Given the description of an element on the screen output the (x, y) to click on. 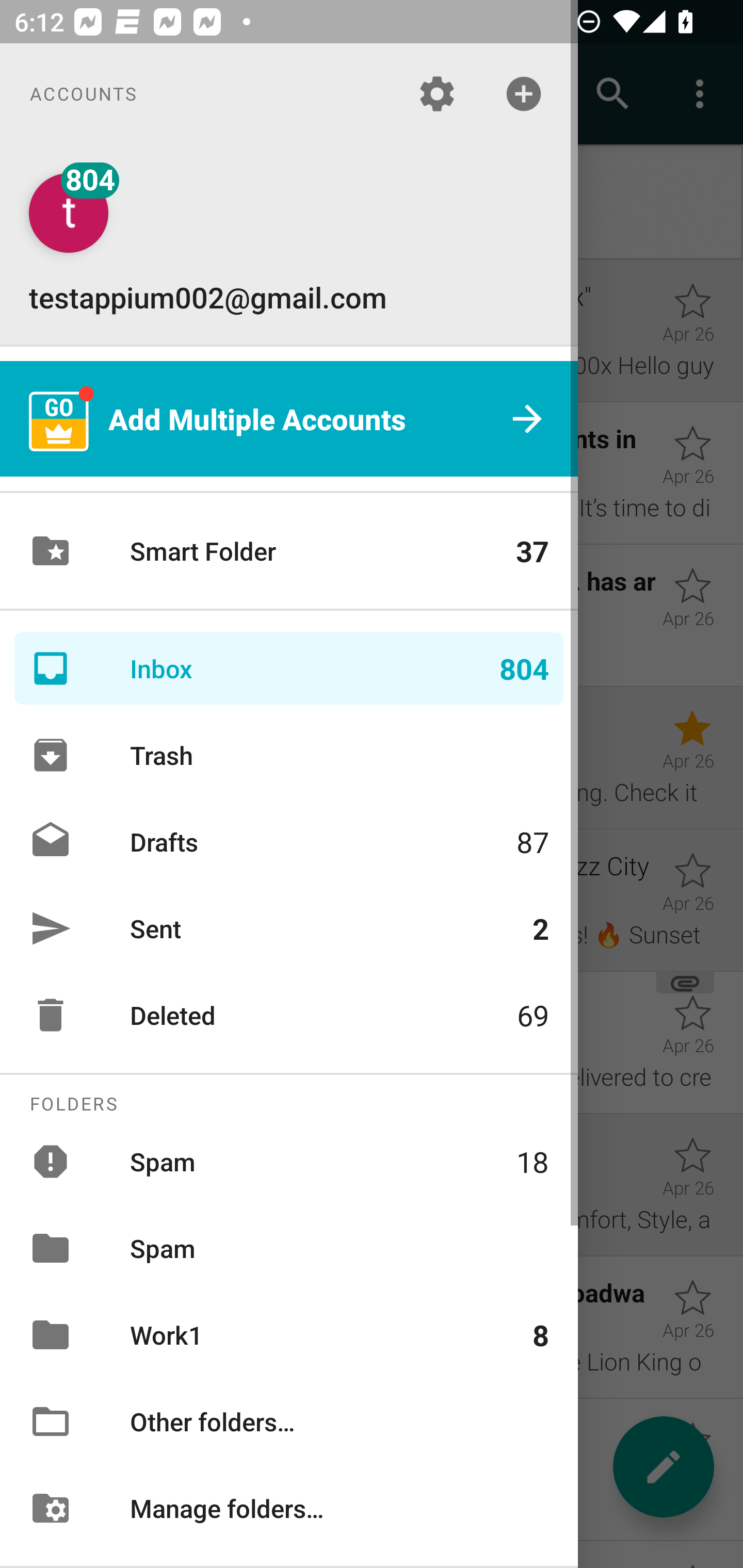
testappium002@gmail.com (289, 244)
Add Multiple Accounts (289, 418)
Smart Folder 37 (289, 551)
Inbox 804 (289, 668)
Trash (289, 754)
Drafts 87 (289, 841)
Sent 2 (289, 928)
Deleted 69 (289, 1015)
Spam 18 (289, 1160)
Spam (289, 1248)
Work1 8 (289, 1335)
Other folders… (289, 1421)
Manage folders… (289, 1507)
